Given the description of an element on the screen output the (x, y) to click on. 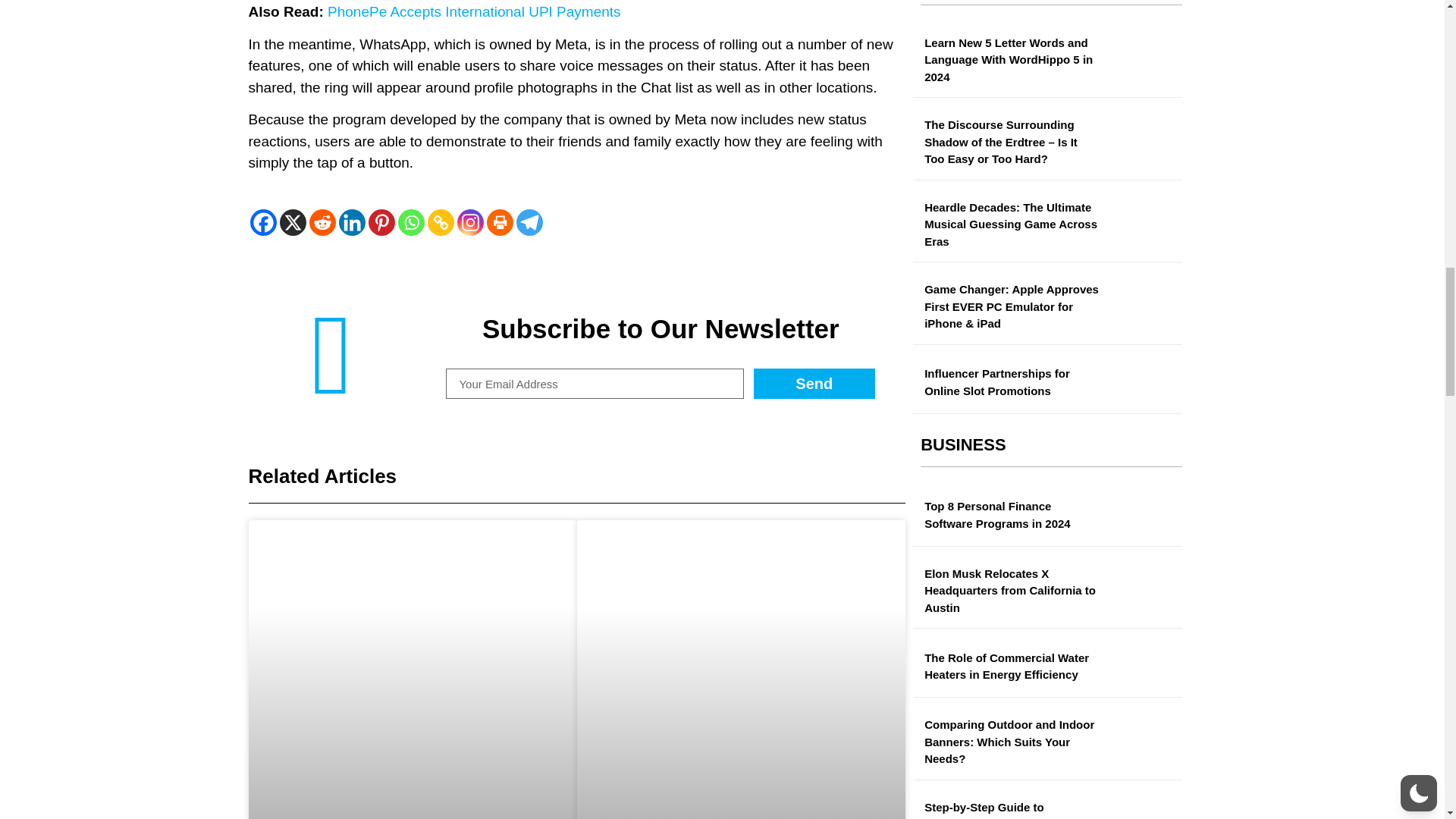
X (292, 222)
Instagram (470, 222)
Pinterest (381, 222)
Linkedin (351, 222)
Copy Link (441, 222)
Whatsapp (410, 222)
Facebook (263, 222)
Reddit (322, 222)
